Given the description of an element on the screen output the (x, y) to click on. 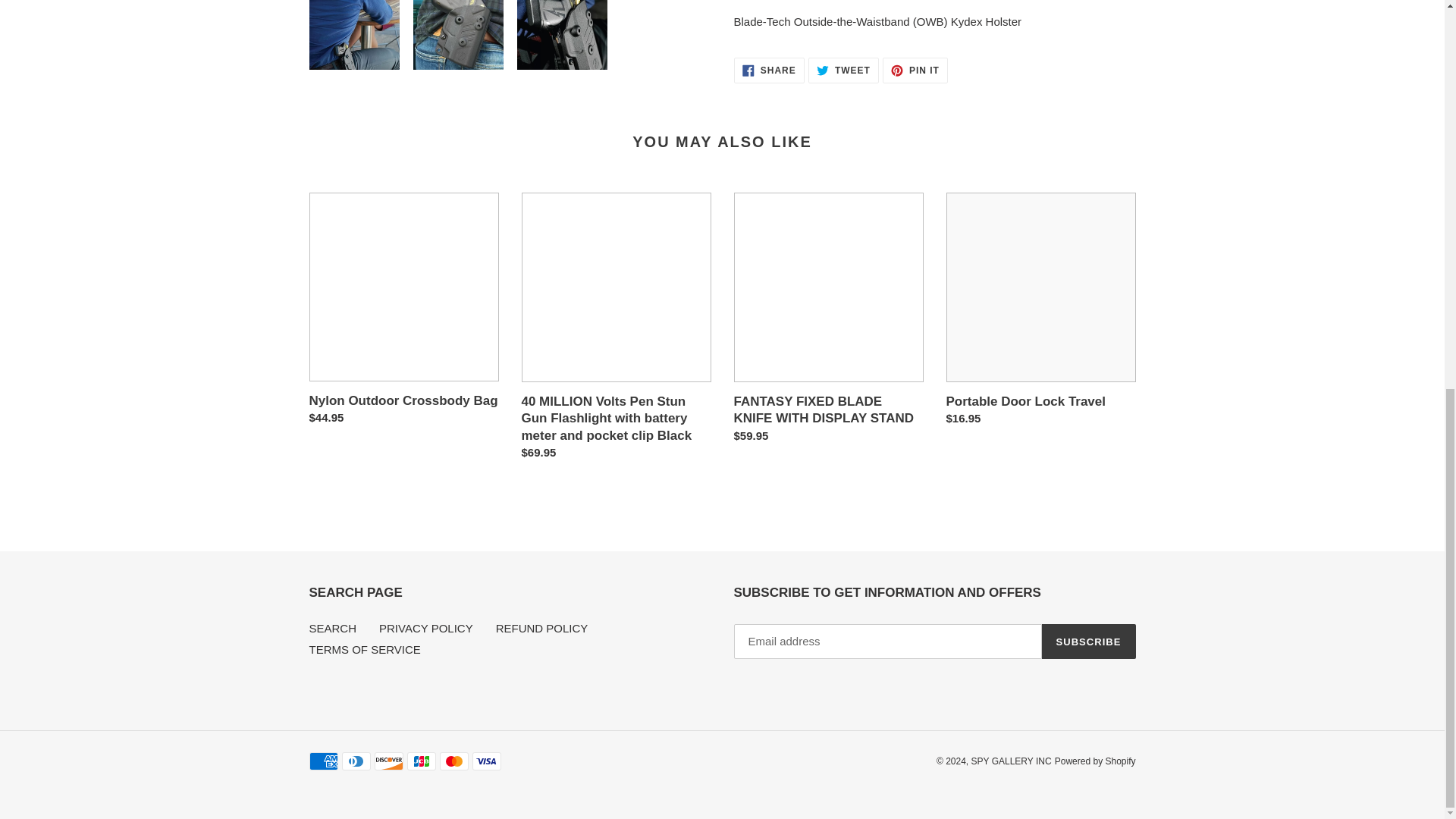
REFUND POLICY (843, 70)
PRIVACY POLICY (914, 70)
TERMS OF SERVICE (542, 627)
SEARCH (769, 70)
